Given the description of an element on the screen output the (x, y) to click on. 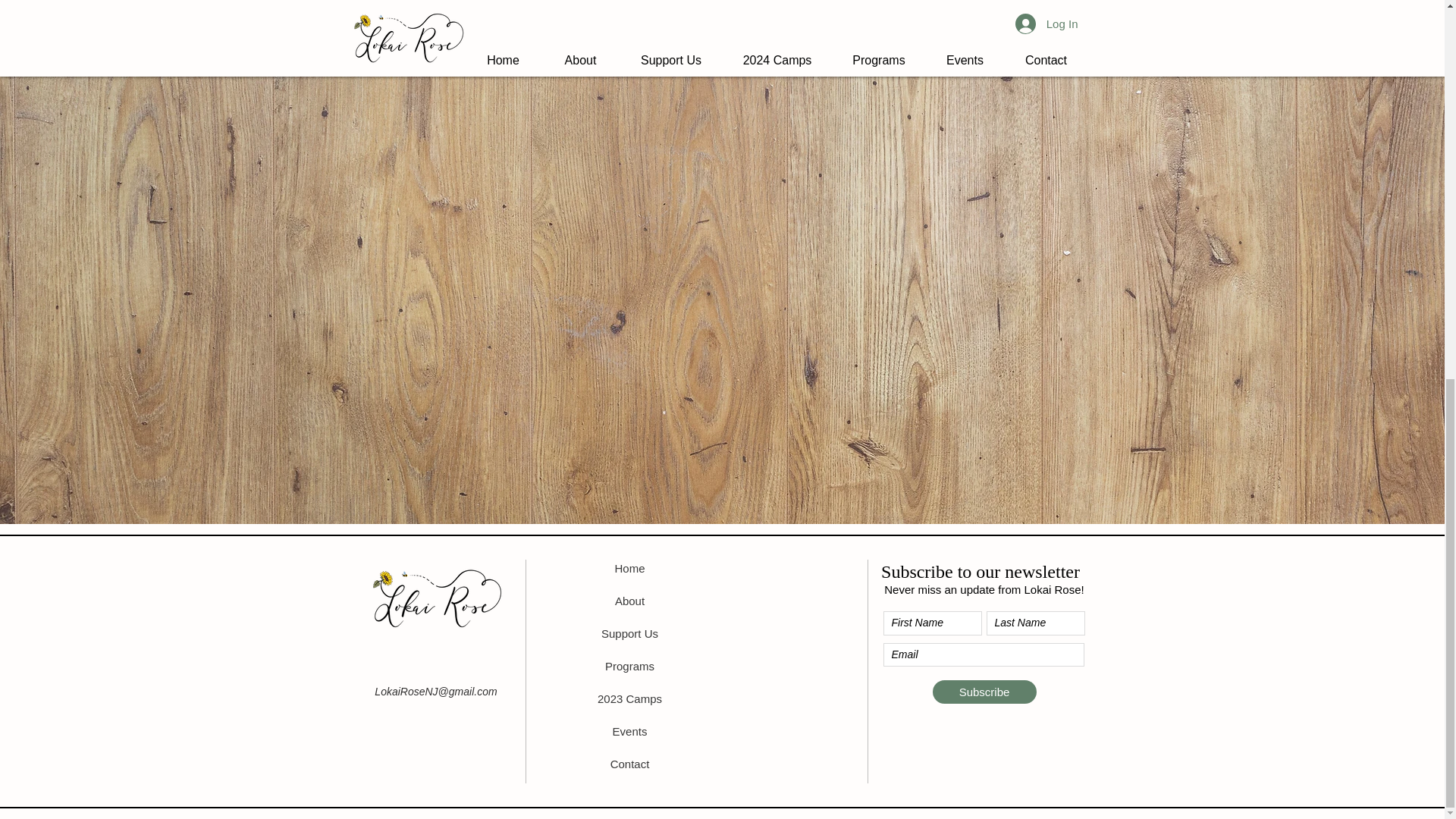
Home (629, 568)
About (629, 600)
2023 Camps (629, 698)
Events (629, 731)
Contact (629, 763)
Programs (629, 666)
Support Us (629, 633)
